Given the description of an element on the screen output the (x, y) to click on. 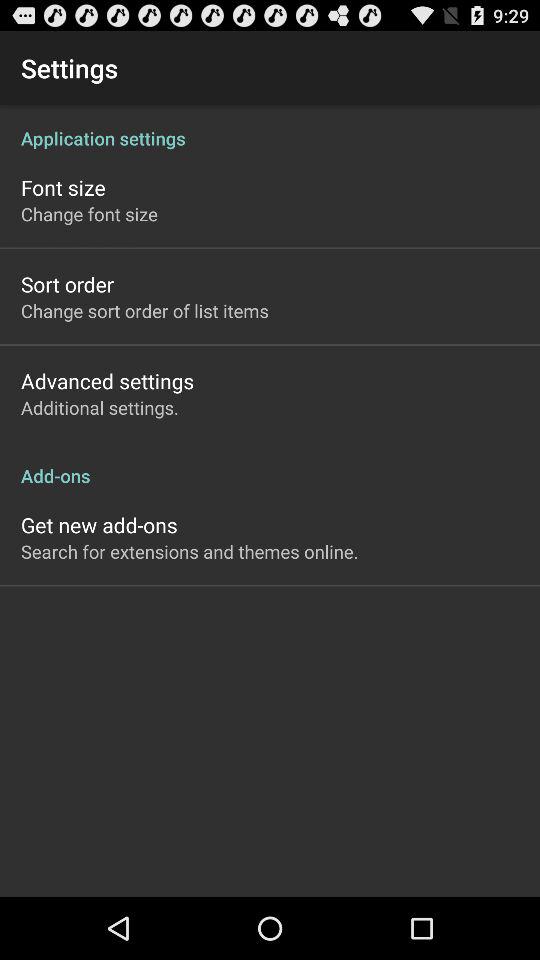
scroll until the application settings icon (270, 127)
